Given the description of an element on the screen output the (x, y) to click on. 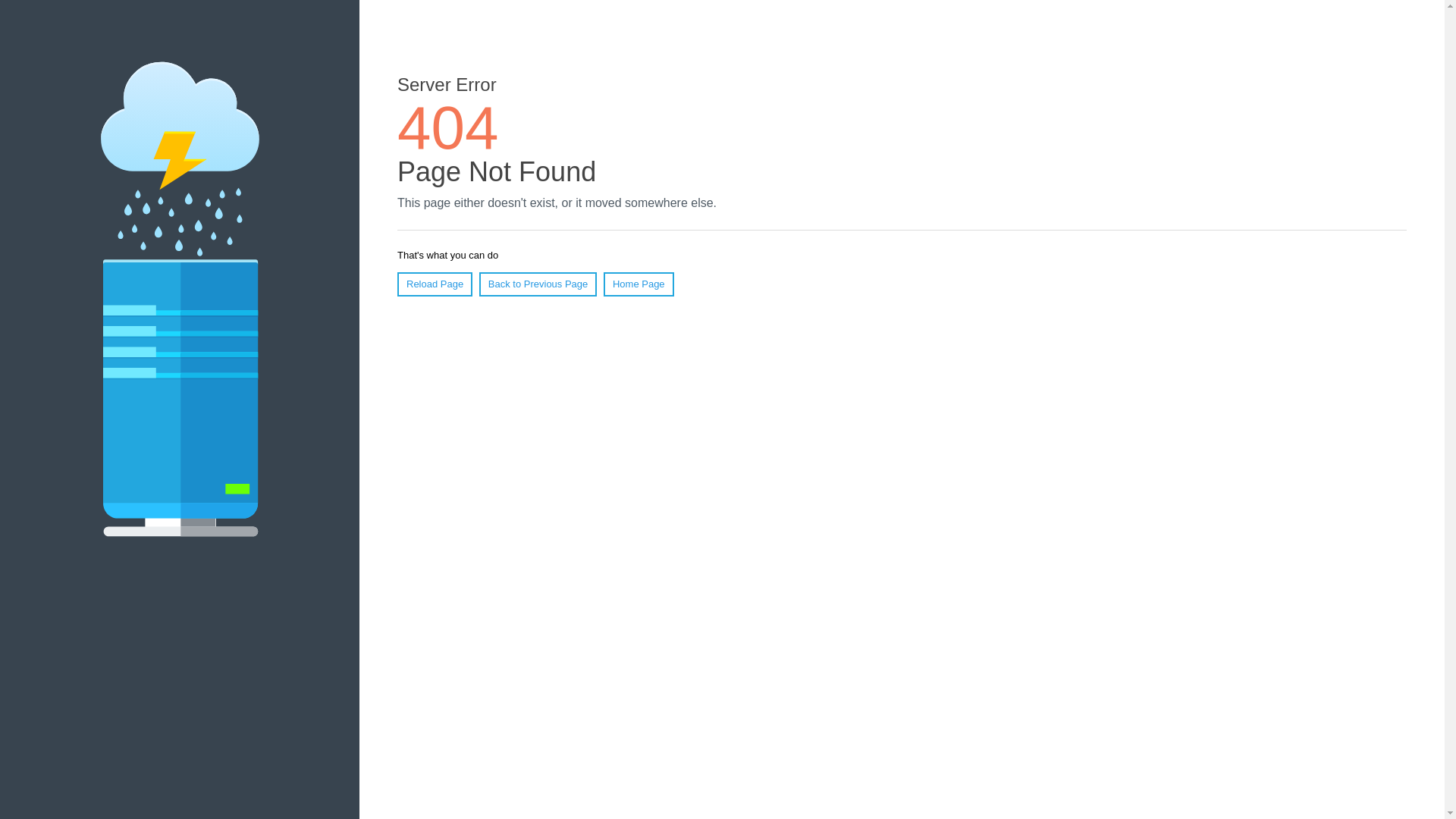
Back to Previous Page Element type: text (538, 284)
Home Page Element type: text (638, 284)
Reload Page Element type: text (434, 284)
